Given the description of an element on the screen output the (x, y) to click on. 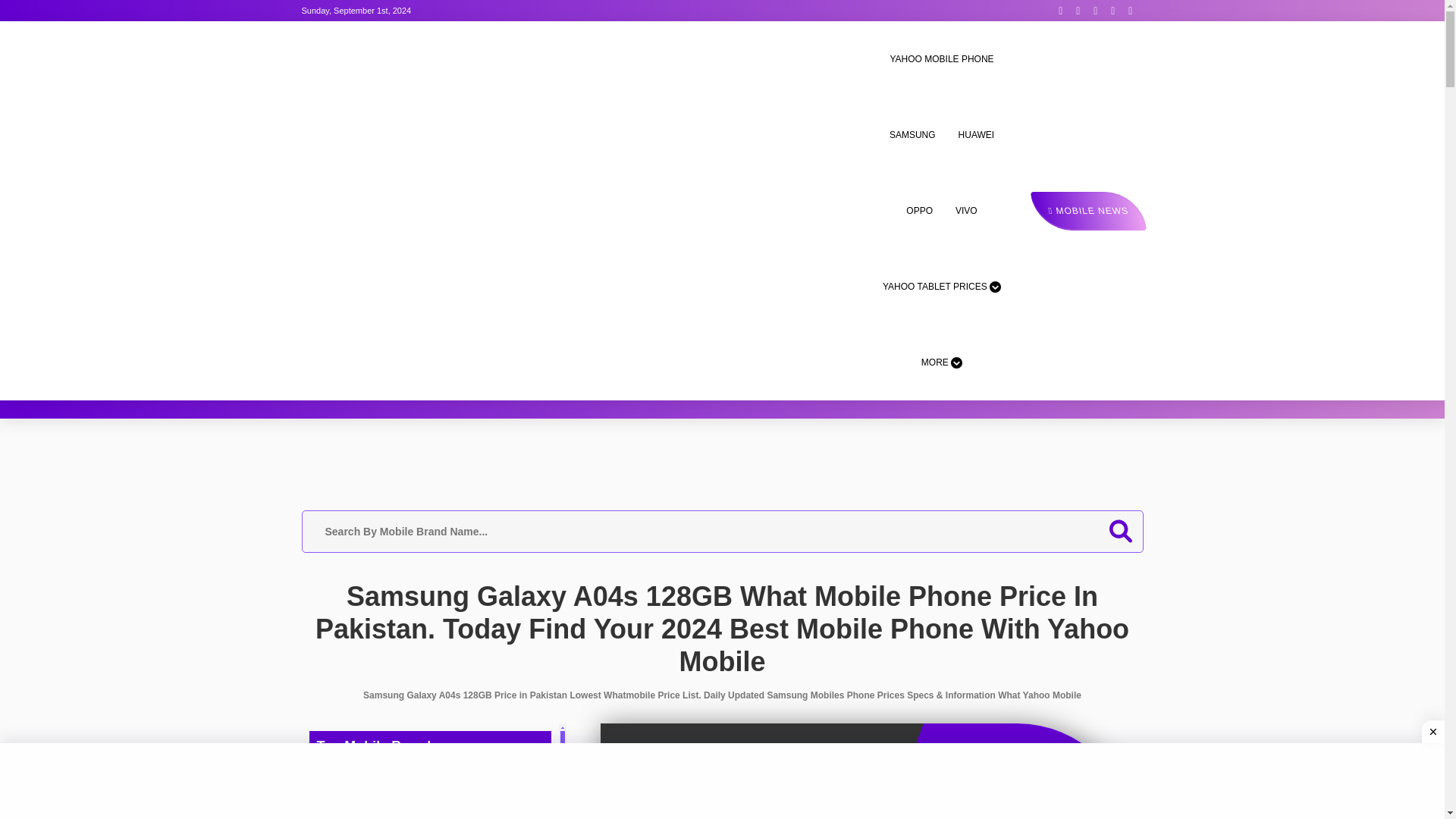
YAHOO MOBILE PHONE (940, 59)
YAHOO TABLET PRICES (941, 286)
500,000 (1021, 793)
5,000 (752, 793)
